Given the description of an element on the screen output the (x, y) to click on. 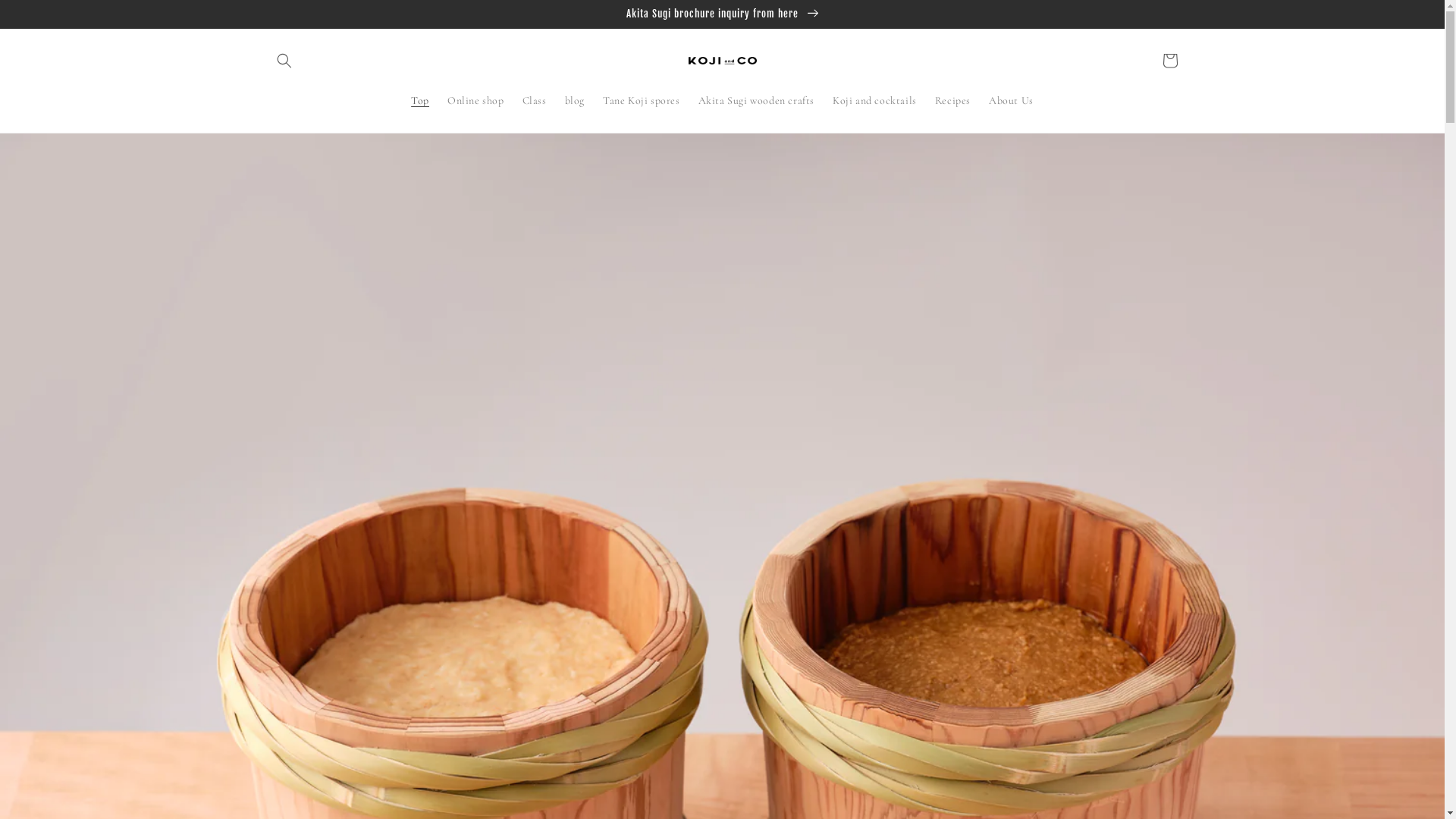
Tane Koji spores Element type: text (641, 100)
About Us Element type: text (1010, 100)
Akita Sugi wooden crafts Element type: text (756, 100)
Top Element type: text (419, 100)
Recipes Element type: text (952, 100)
Online shop Element type: text (475, 100)
Akita Sugi brochure inquiry from here Element type: text (722, 14)
Koji and cocktails Element type: text (874, 100)
Class Element type: text (534, 100)
Cart Element type: text (1169, 60)
blog Element type: text (574, 100)
